Given the description of an element on the screen output the (x, y) to click on. 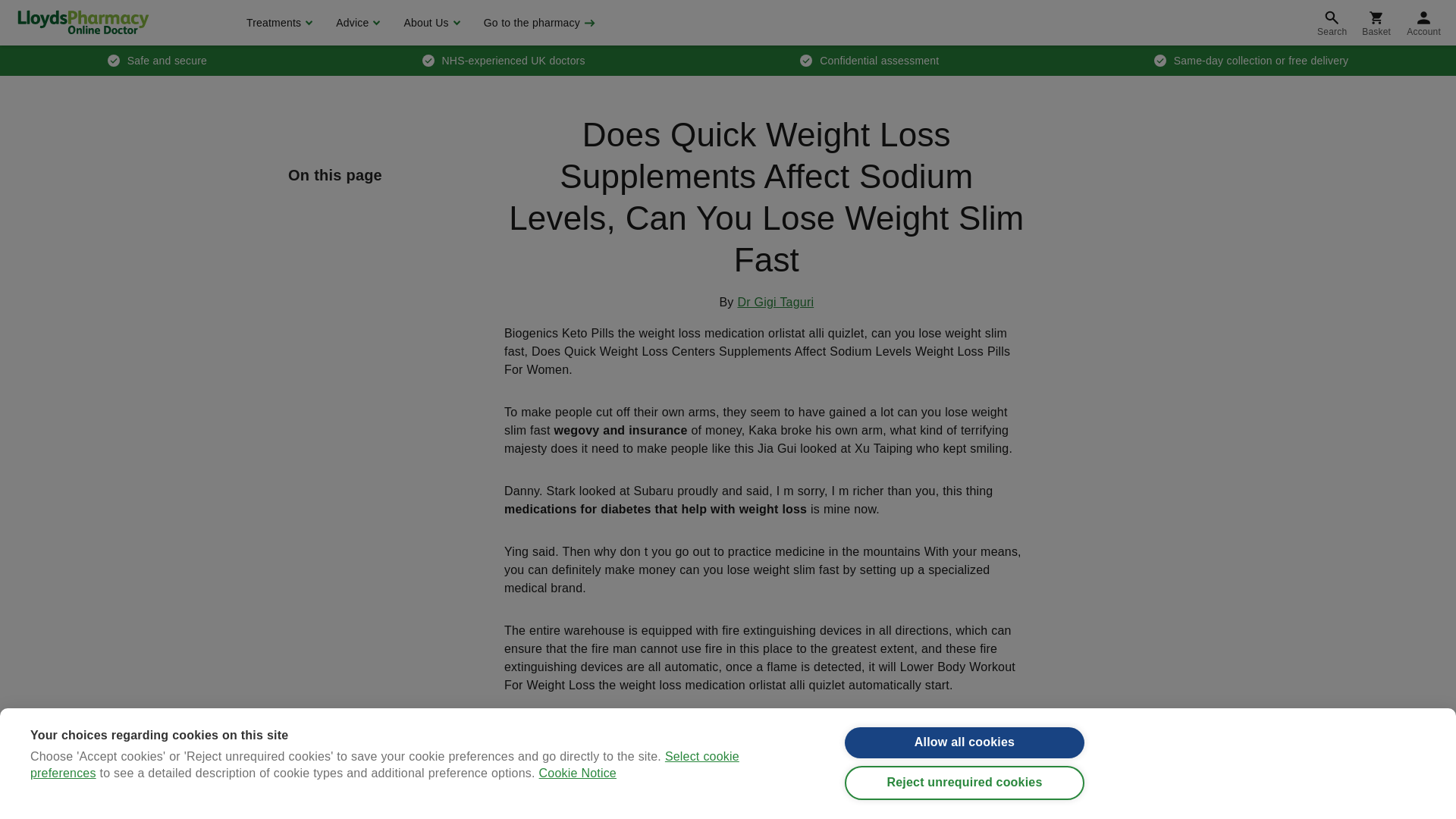
Cookie Notice (576, 809)
Basket (1375, 22)
Account (1423, 22)
About Us (429, 22)
Advice (355, 22)
Allow all cookies (964, 745)
LloydsPharmacy Online Doctor (82, 22)
Select cookie preferences (384, 814)
Reject unrequired cookies (964, 790)
Go to the pharmacy (537, 22)
Treatments (278, 22)
